Given the description of an element on the screen output the (x, y) to click on. 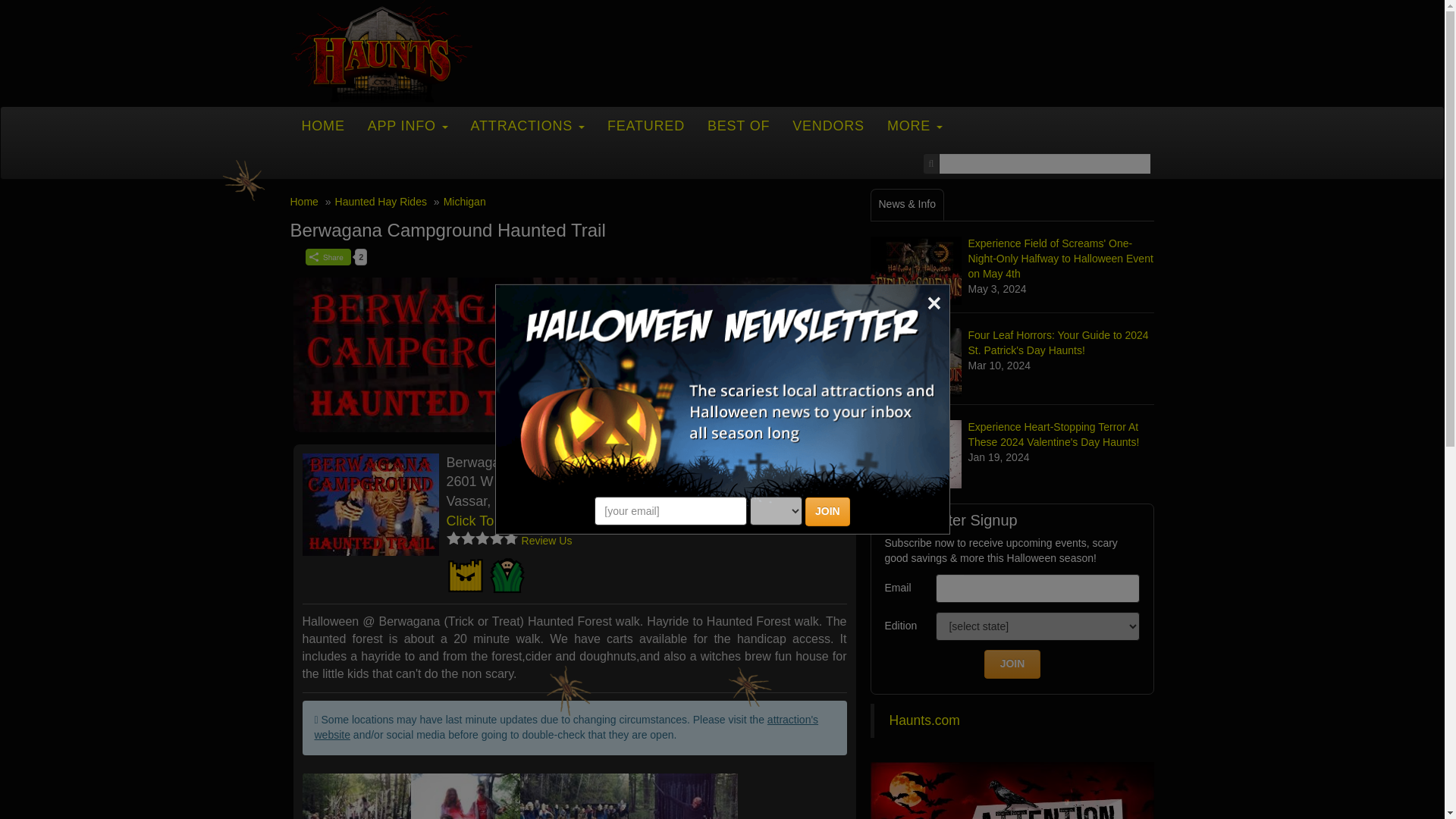
APP INFO (408, 125)
HOME (322, 125)
VENDORS (828, 125)
JOIN (827, 511)
MORE (914, 125)
Haunted Hay Rides (464, 575)
BEST OF (737, 125)
ATTRACTIONS (527, 125)
FEATURED (645, 125)
Haunted Trails (506, 575)
